Given the description of an element on the screen output the (x, y) to click on. 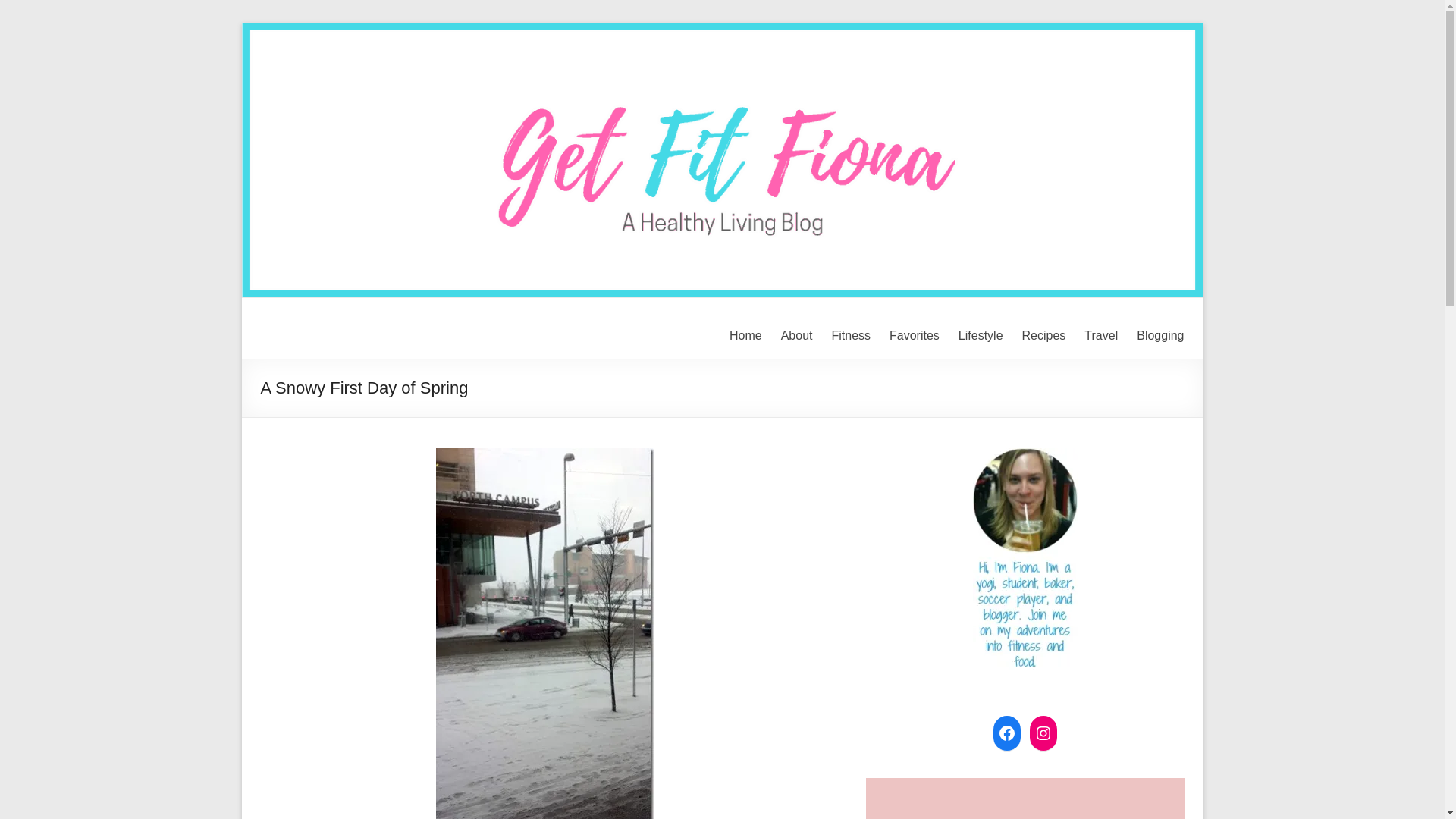
Fitness (850, 335)
Get Fit Fiona (339, 329)
Favorites (914, 335)
About (796, 335)
Home (745, 335)
Travel (1101, 335)
Recipes (1043, 335)
Blogging (1160, 335)
Lifestyle (980, 335)
